Given the description of an element on the screen output the (x, y) to click on. 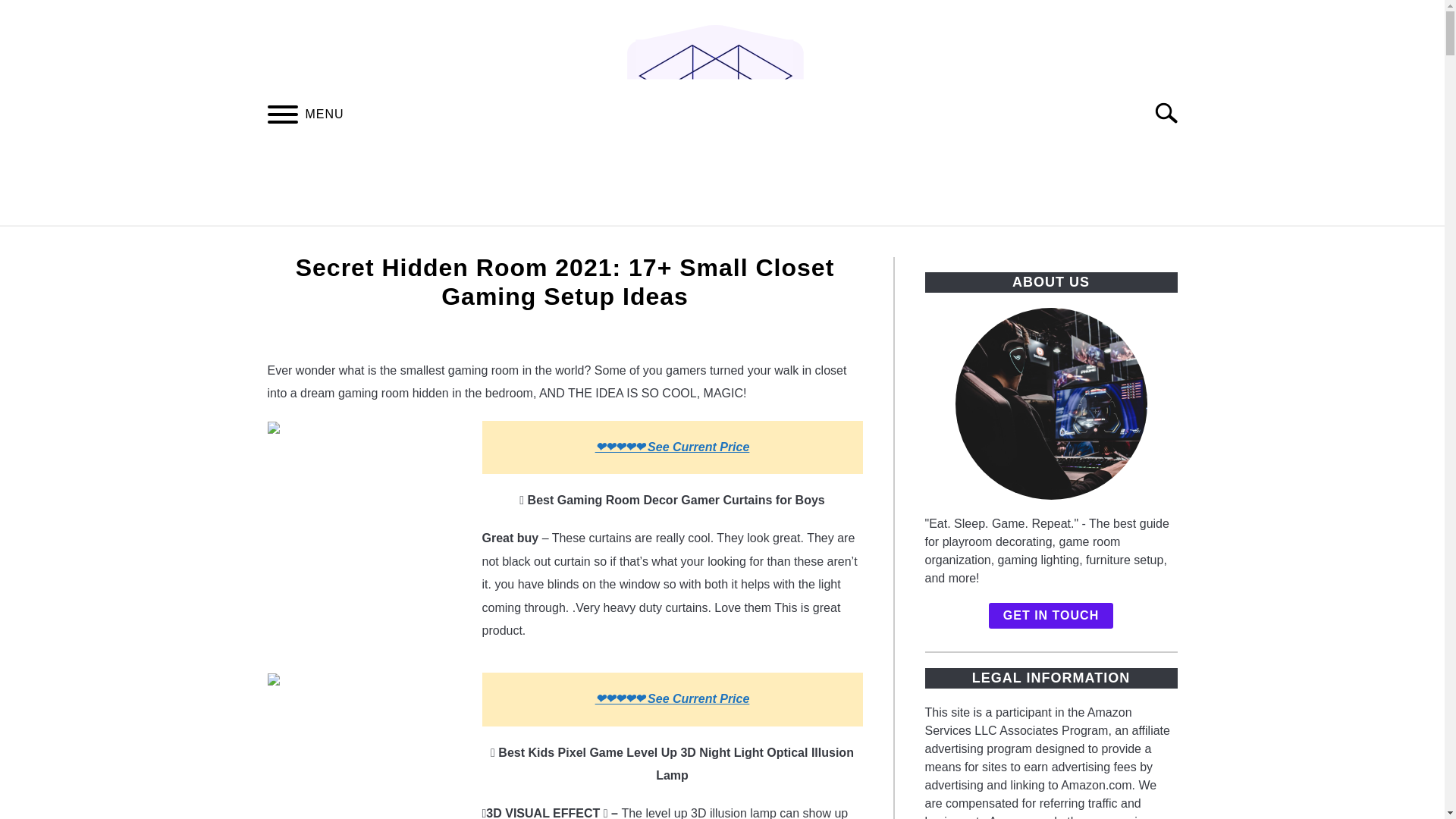
Search (1172, 112)
GAMERS SHOP (1055, 243)
MENU (282, 116)
GAMERS ROOM SETUP (607, 243)
GAMERS ROOM DESIGN (419, 243)
GAMER HEALTH (768, 243)
GAMING CULTURE (913, 243)
